Given the description of an element on the screen output the (x, y) to click on. 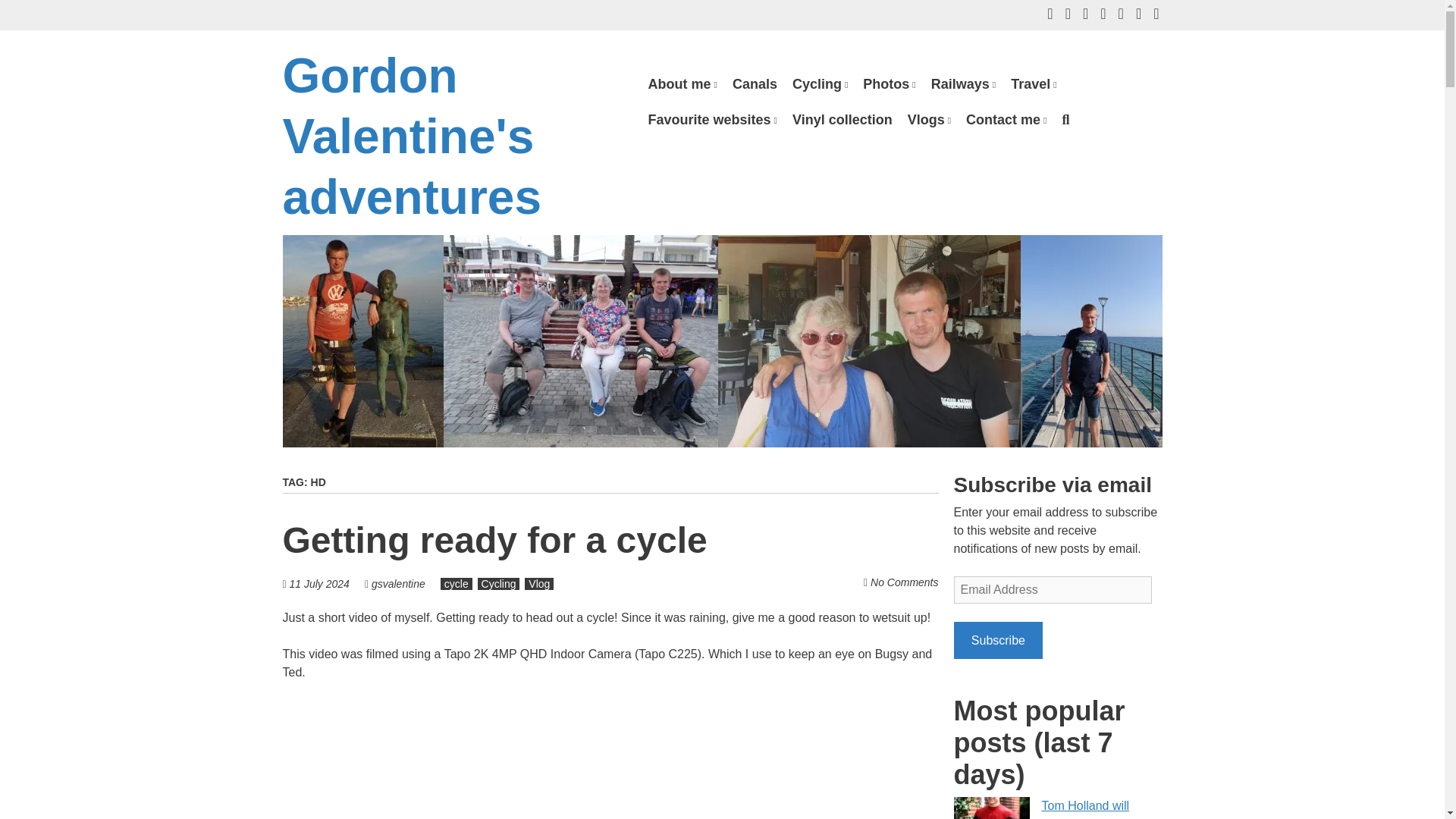
Cycling (820, 84)
Photos (889, 84)
About me (681, 84)
Canals (754, 84)
Gordon Valentine's adventures (411, 136)
Gordon Valentine's adventures (411, 136)
